Given the description of an element on the screen output the (x, y) to click on. 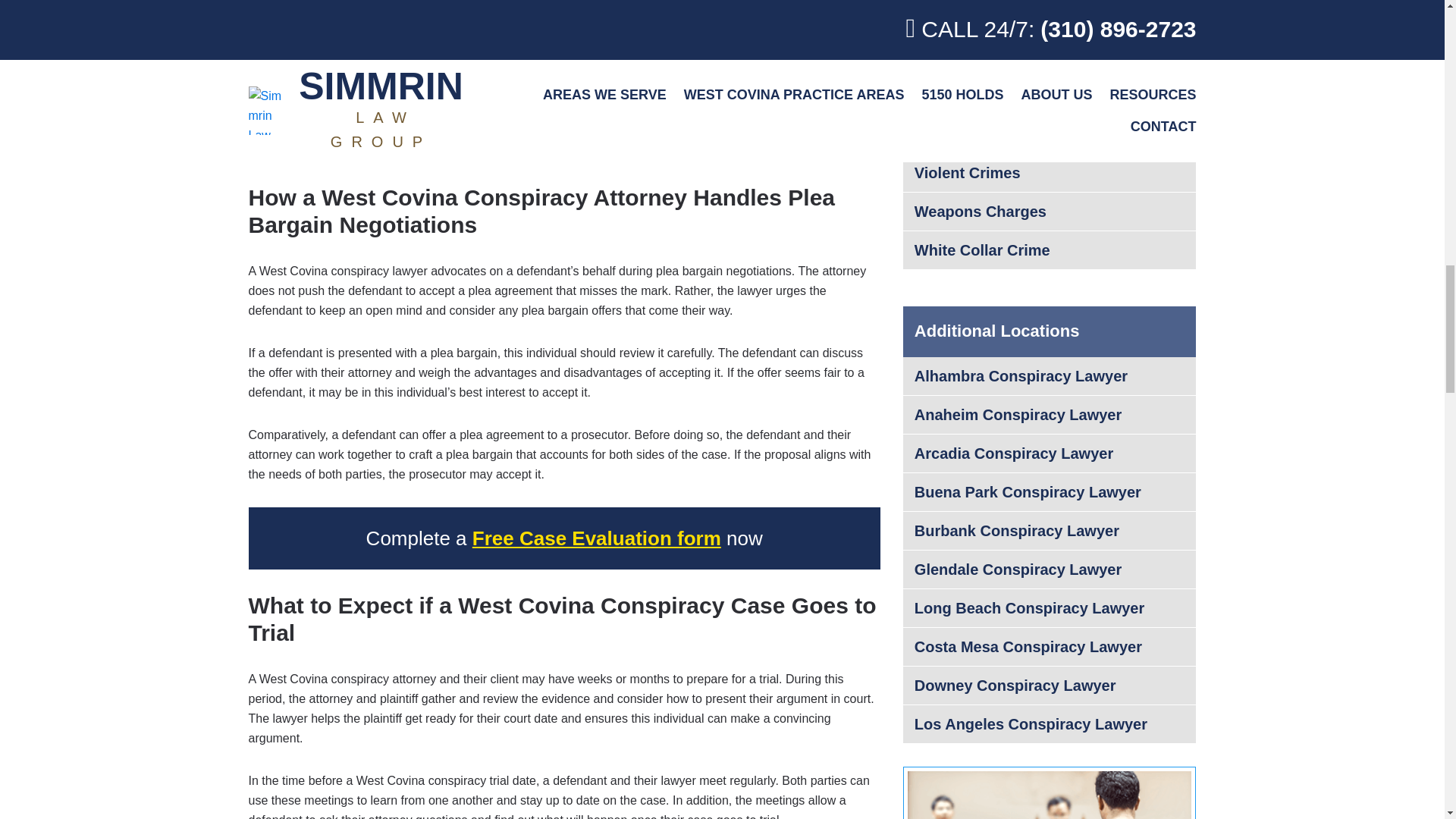
West Covina Criminal Defense Lawyers (629, 128)
